Given the description of an element on the screen output the (x, y) to click on. 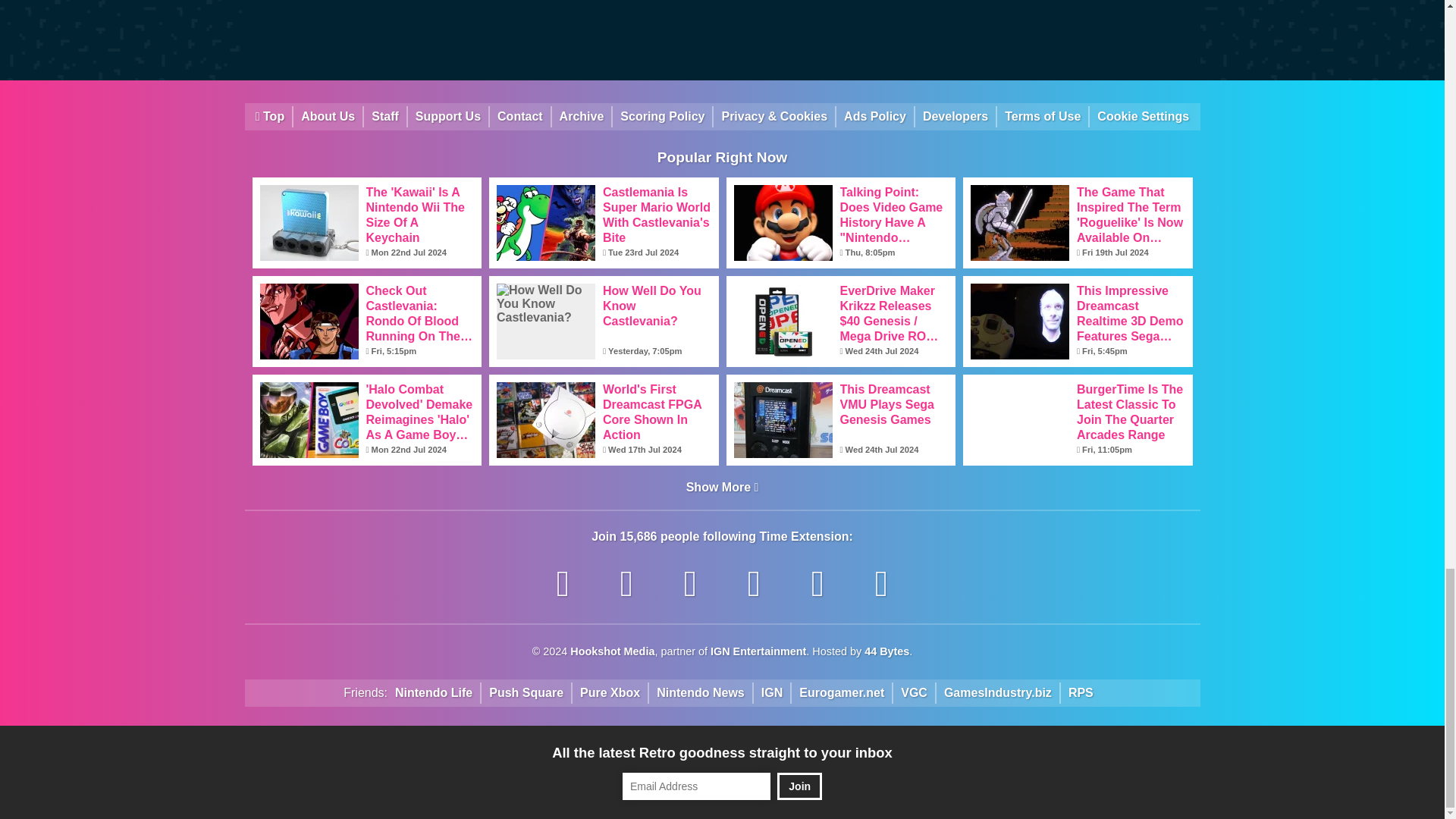
Join (799, 786)
